Given the description of an element on the screen output the (x, y) to click on. 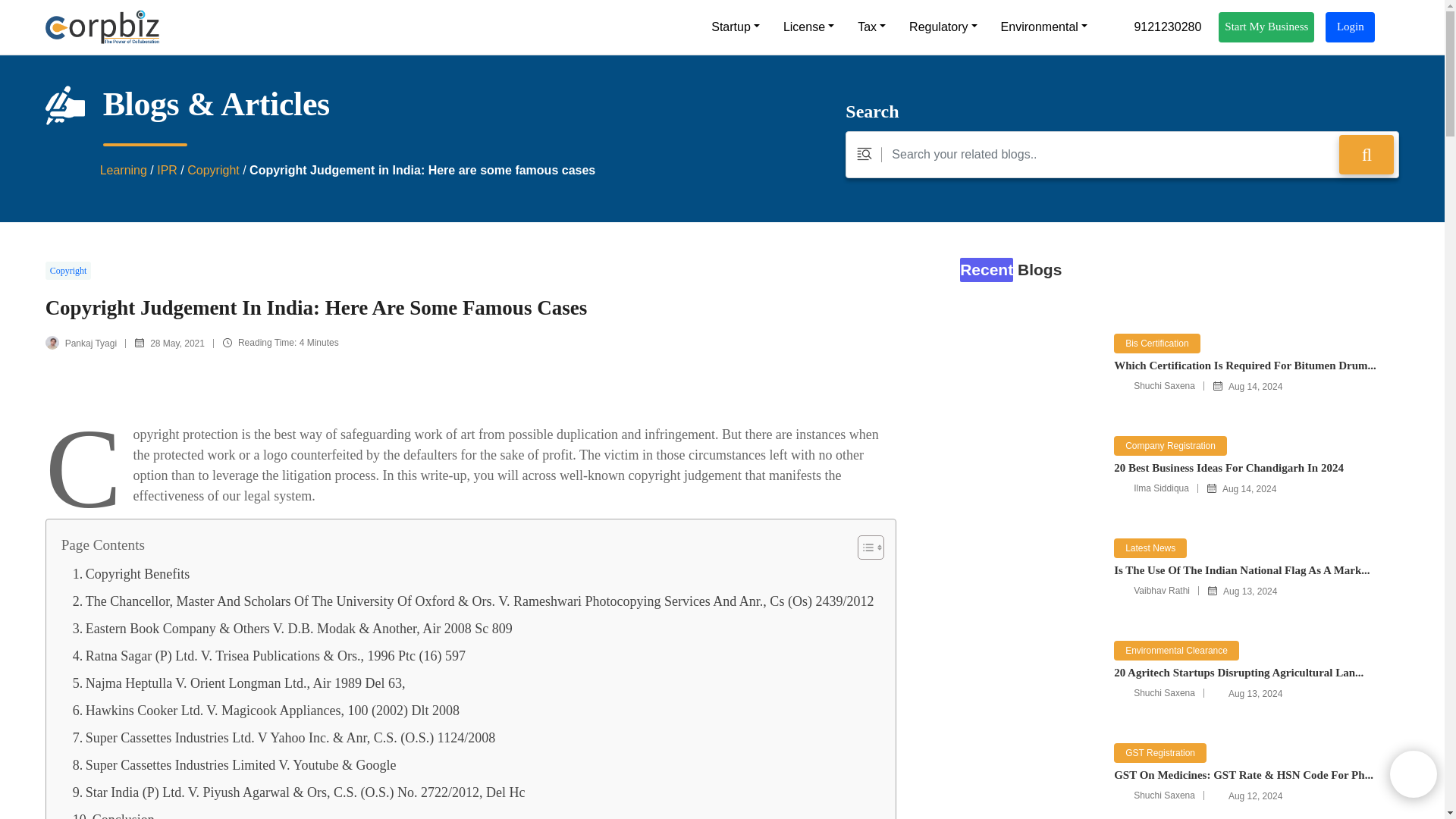
Najma Heptulla V. Orient Longman Ltd., Air 1989 Del 63, (239, 682)
Posts by Pankaj Tyagi (91, 343)
Startup (734, 27)
Copyright Benefits (131, 574)
